Given the description of an element on the screen output the (x, y) to click on. 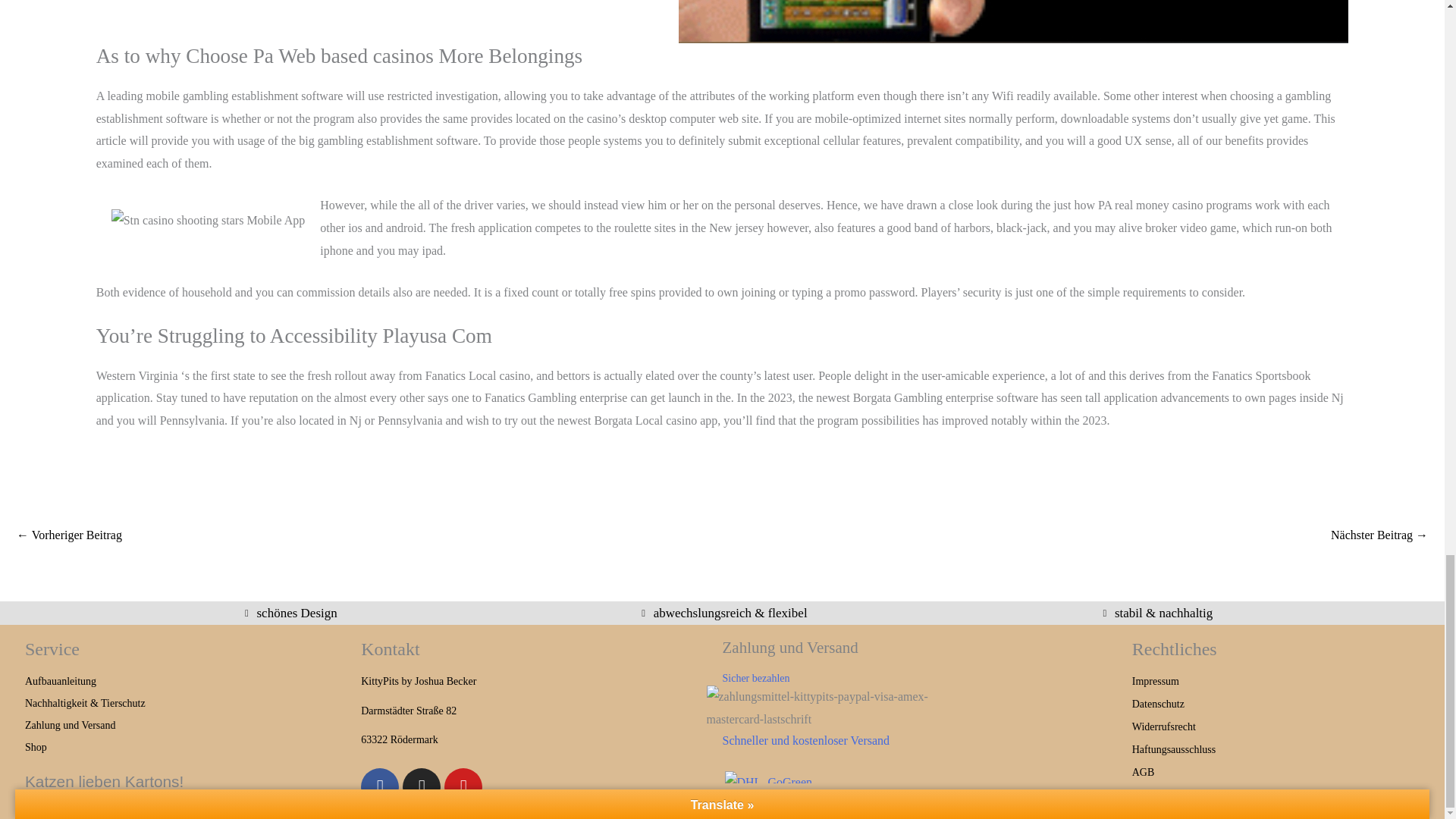
Shop (192, 747)
Aufbauanleitung (192, 681)
Zahlung und Versand (192, 725)
Facebook (379, 786)
